Given the description of an element on the screen output the (x, y) to click on. 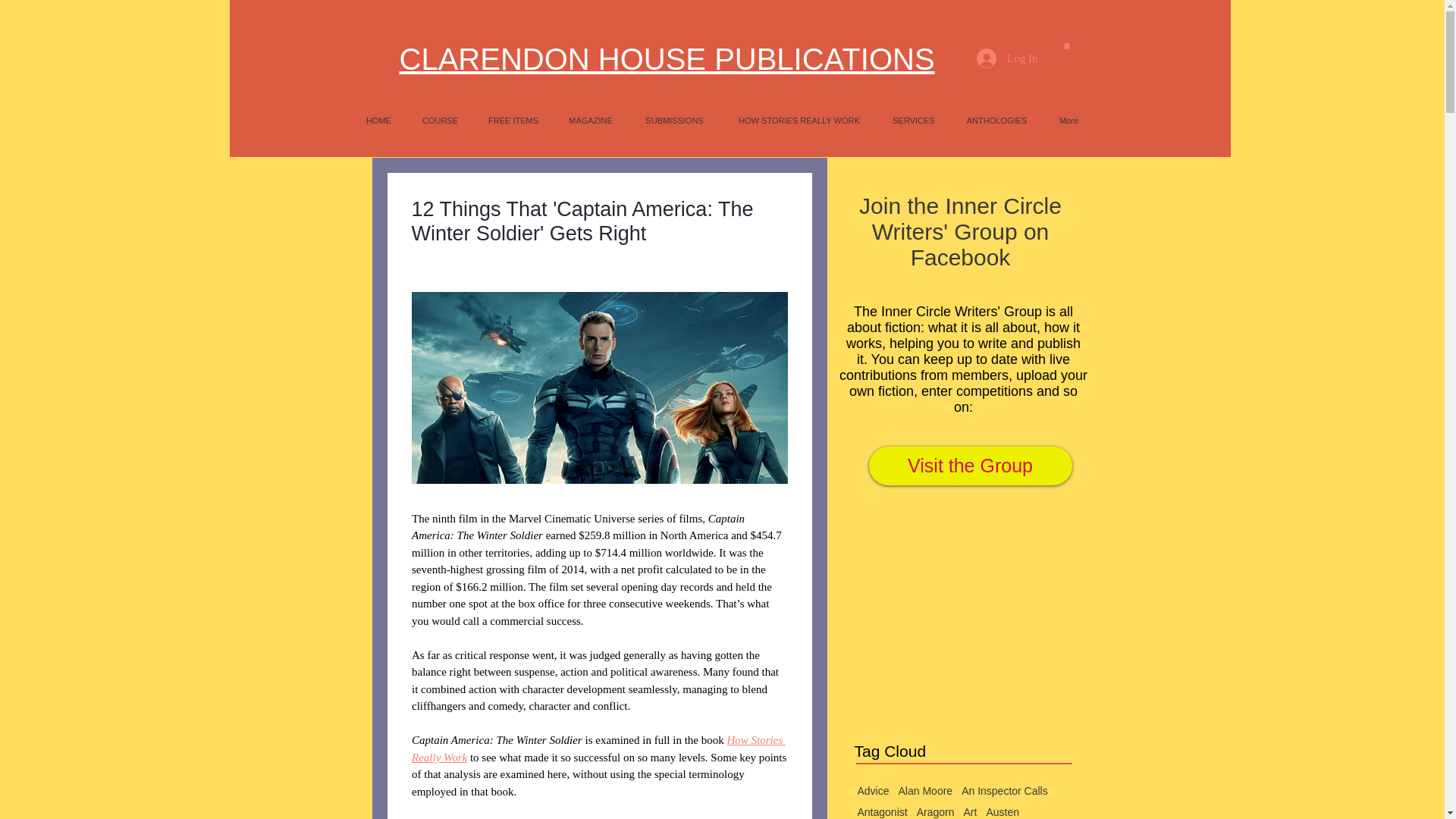
HOW STORIES REALLY WORK (798, 120)
SERVICES (913, 120)
CLARENDON HOUSE PUBLICATIONS (666, 59)
SUBMISSIONS (673, 120)
FREE ITEMS (513, 120)
MAGAZINE (590, 120)
HOME (378, 120)
COURSE (439, 120)
ANTHOLOGIES (996, 120)
